Given the description of an element on the screen output the (x, y) to click on. 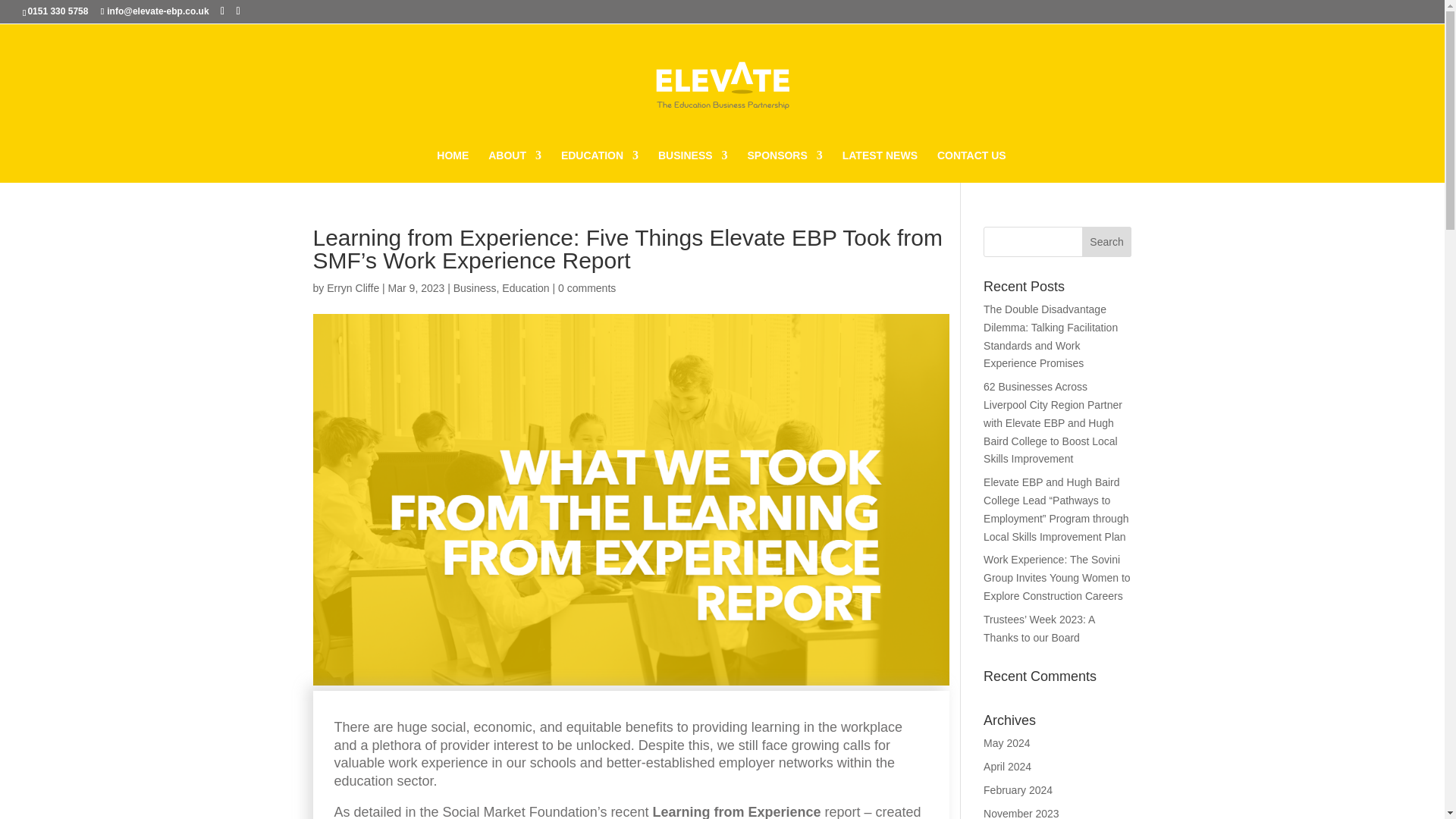
EDUCATION (599, 165)
SPONSORS (784, 165)
Posts by Erryn Cliffe (352, 287)
BUSINESS (693, 165)
LATEST NEWS (880, 165)
CONTACT US (971, 165)
HOME (452, 165)
ABOUT (514, 165)
Search (1106, 241)
